Given the description of an element on the screen output the (x, y) to click on. 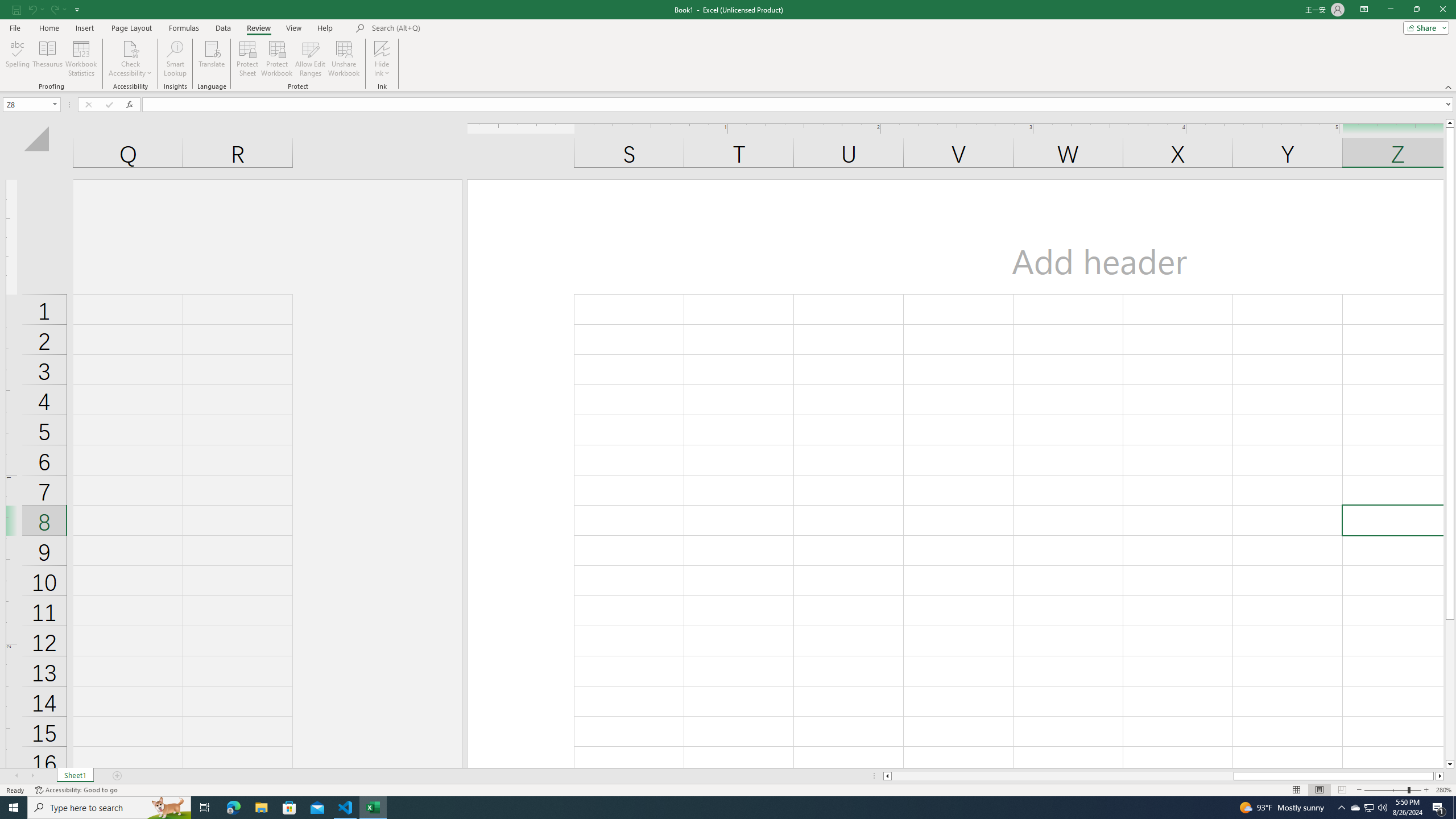
Allow Edit Ranges (310, 58)
Unshare Workbook (344, 58)
Spelling... (17, 58)
